Given the description of an element on the screen output the (x, y) to click on. 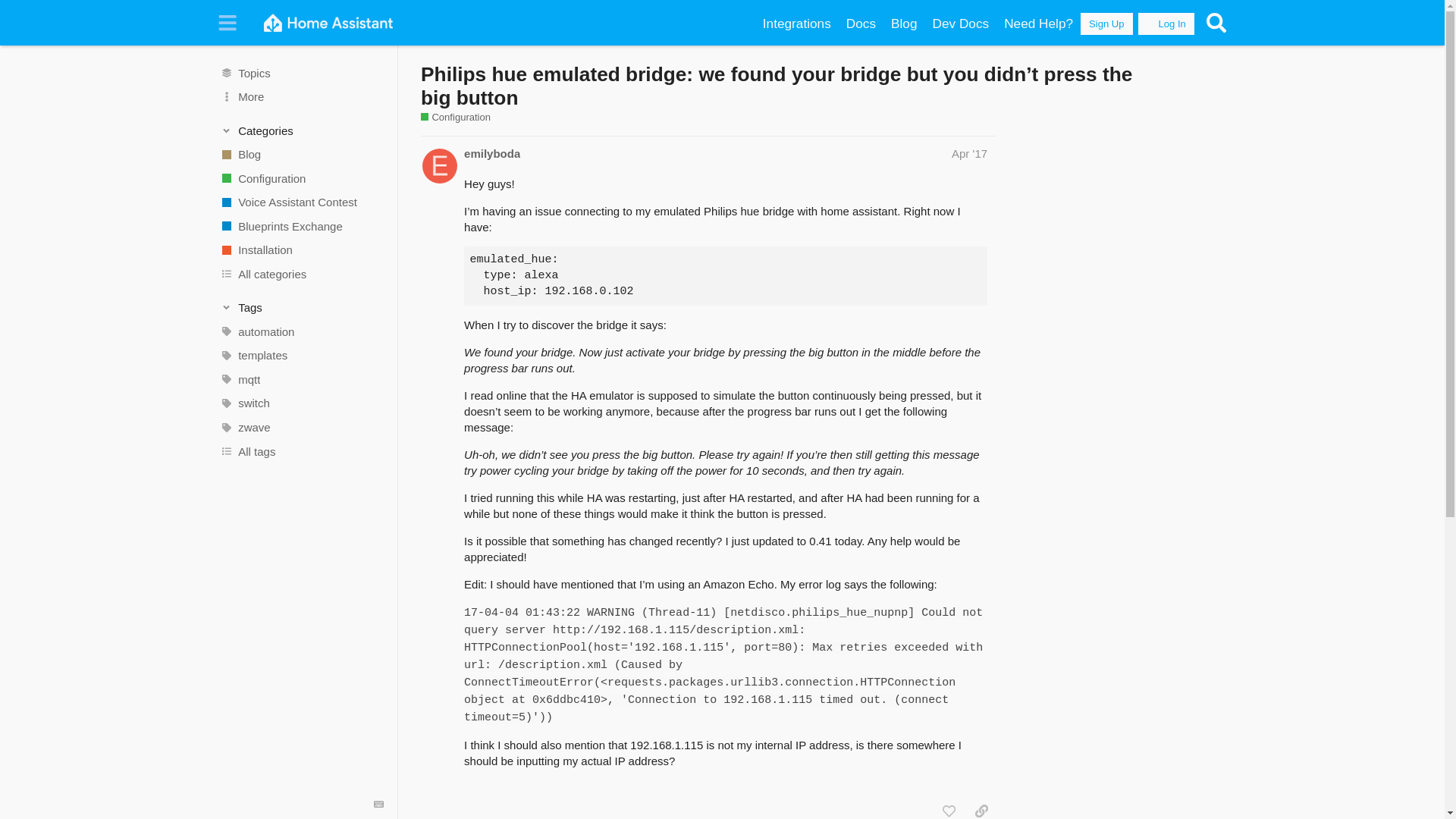
Topics (301, 72)
Integrations (796, 23)
Need Help? (1037, 23)
Sign Up (1106, 24)
Blog (903, 23)
Toggle section (301, 307)
All categories (301, 274)
All topics (301, 72)
Tags (301, 307)
